Given the description of an element on the screen output the (x, y) to click on. 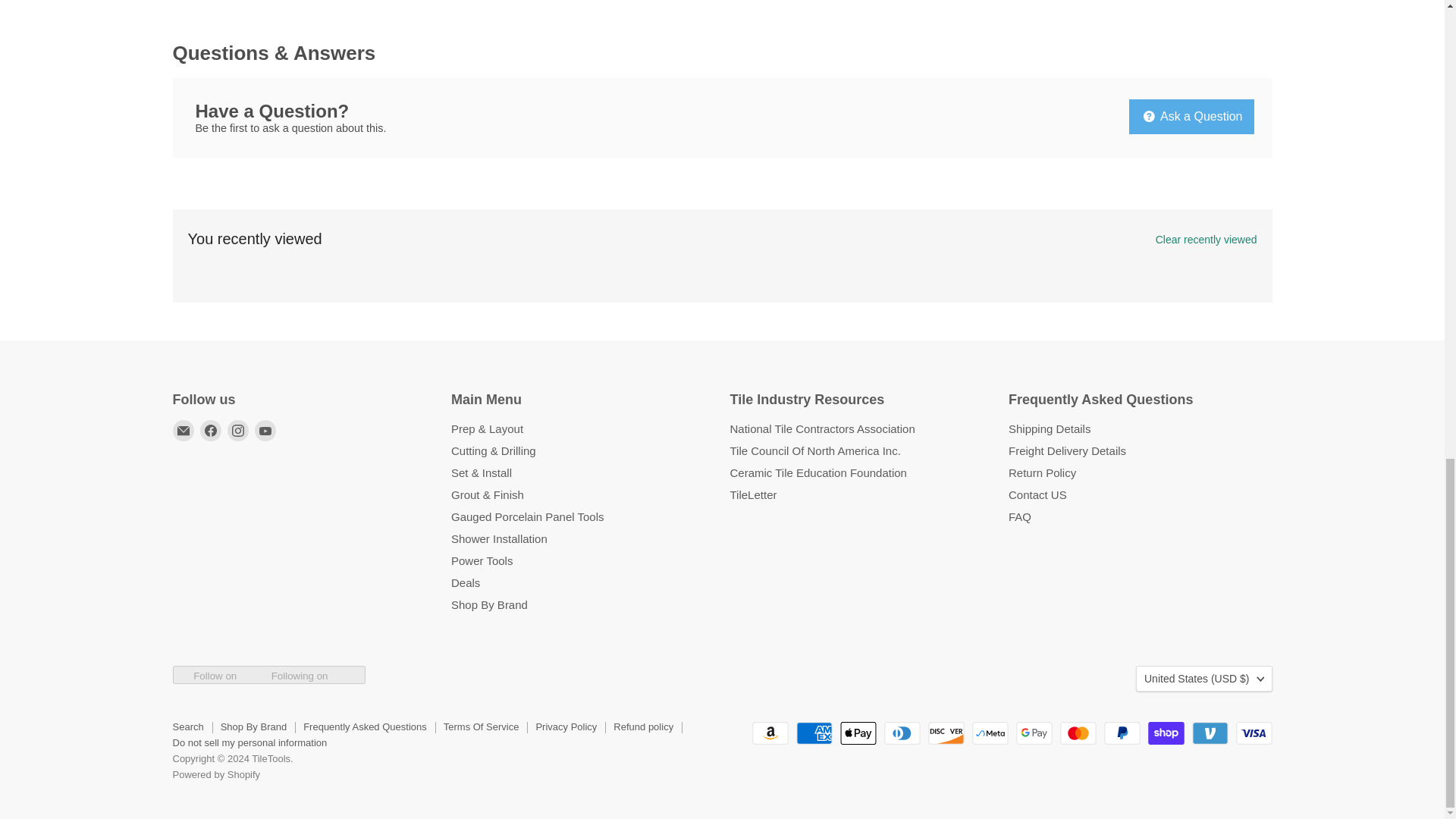
Facebook (210, 430)
YouTube (265, 430)
Instagram (237, 430)
Email (183, 430)
